Given the description of an element on the screen output the (x, y) to click on. 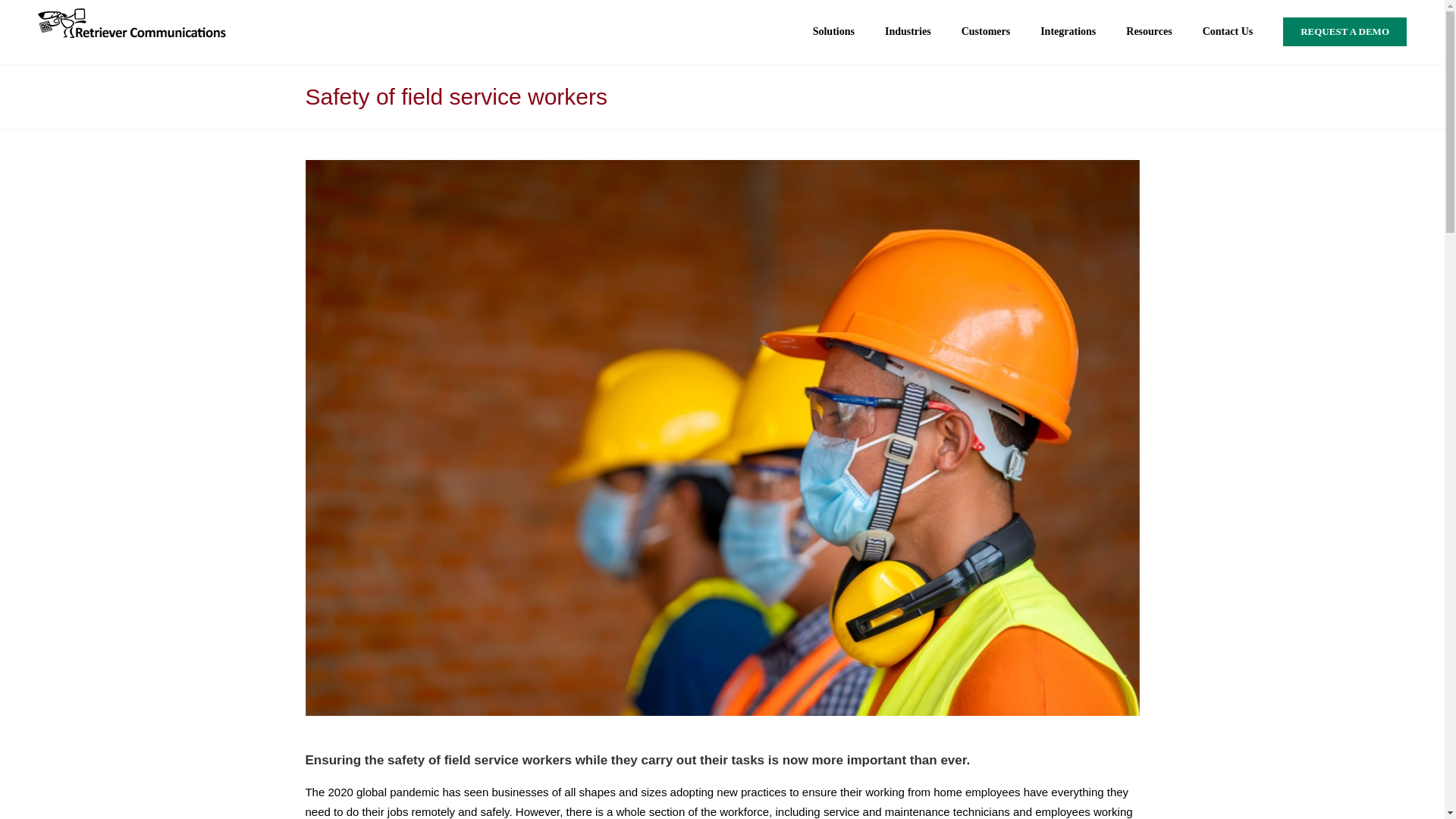
REQUEST A DEMO (1344, 31)
